Given the description of an element on the screen output the (x, y) to click on. 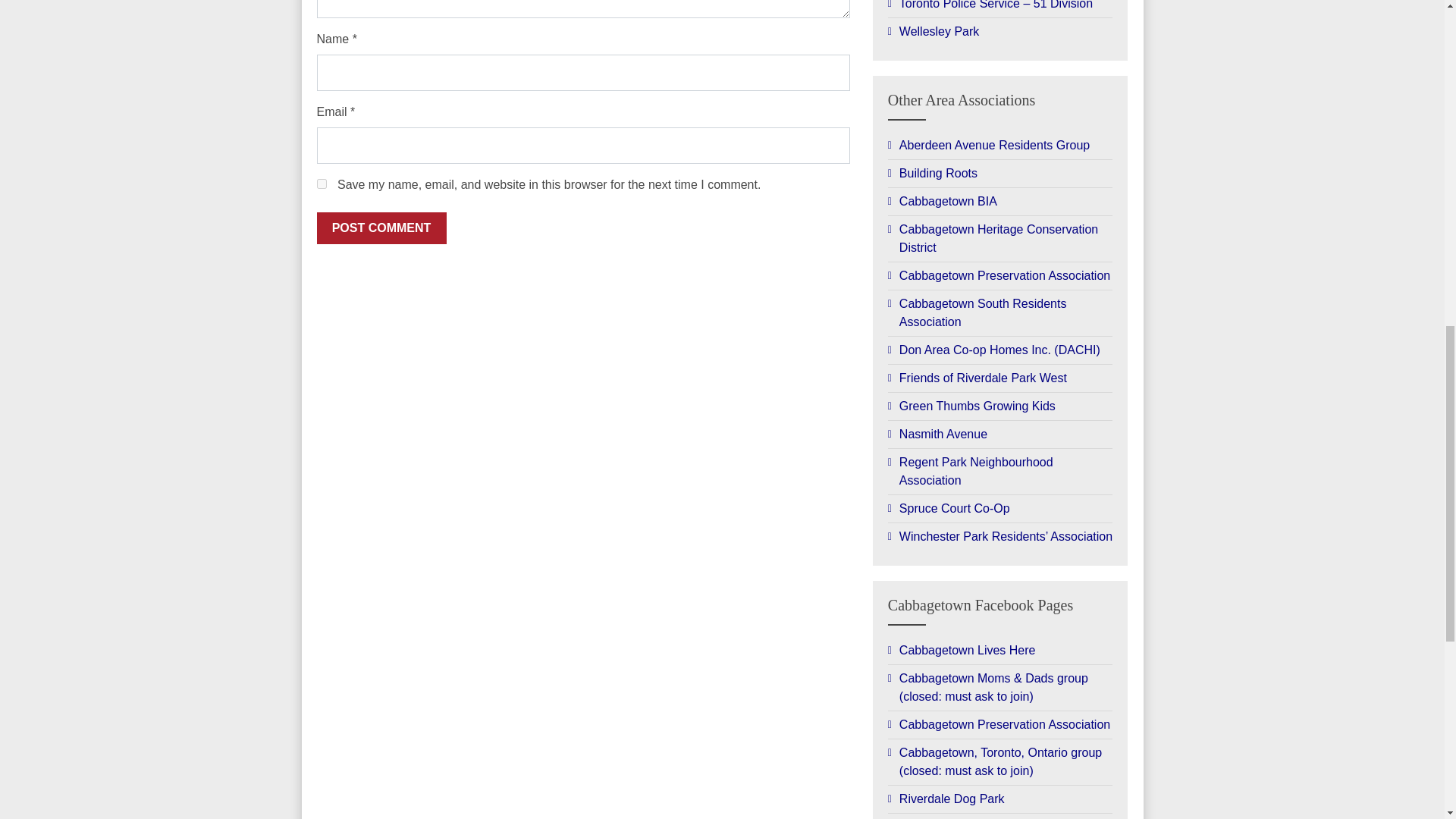
Post Comment (381, 228)
West of Parliament, south of Carlton (1000, 312)
Open group run by real estate agent (1000, 650)
yes (321, 184)
